Given the description of an element on the screen output the (x, y) to click on. 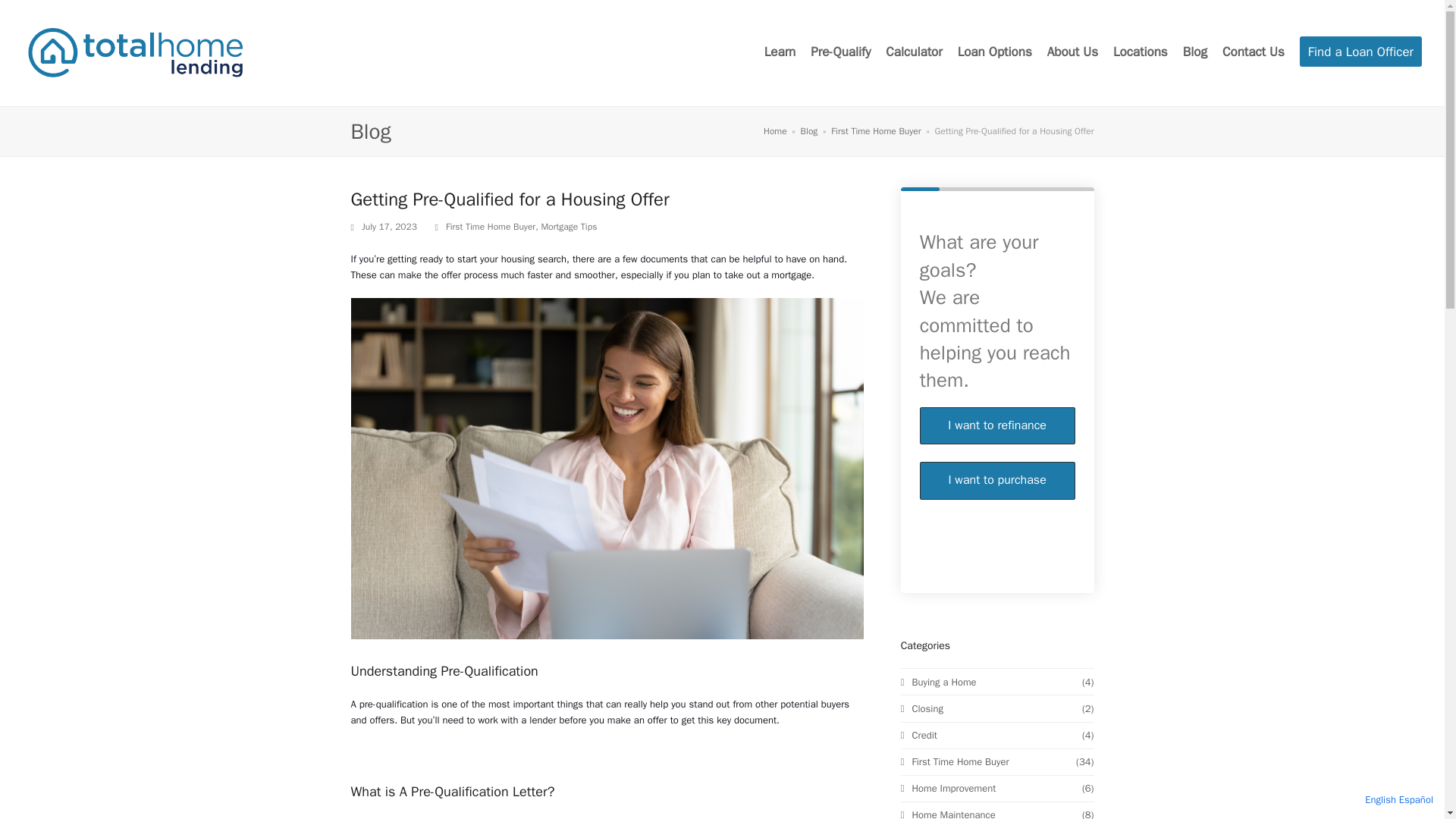
Find a Loan Officer (1361, 53)
Calculator (913, 53)
Loan Options (995, 53)
About Us (997, 461)
About Us (997, 461)
Locations (1071, 53)
Loan Options (1071, 53)
First Time Home Buyer (1140, 53)
Blog (995, 53)
Home (490, 226)
Locations (809, 131)
Find a Loan Officer (774, 131)
Pre-Qualify (1140, 53)
